Given the description of an element on the screen output the (x, y) to click on. 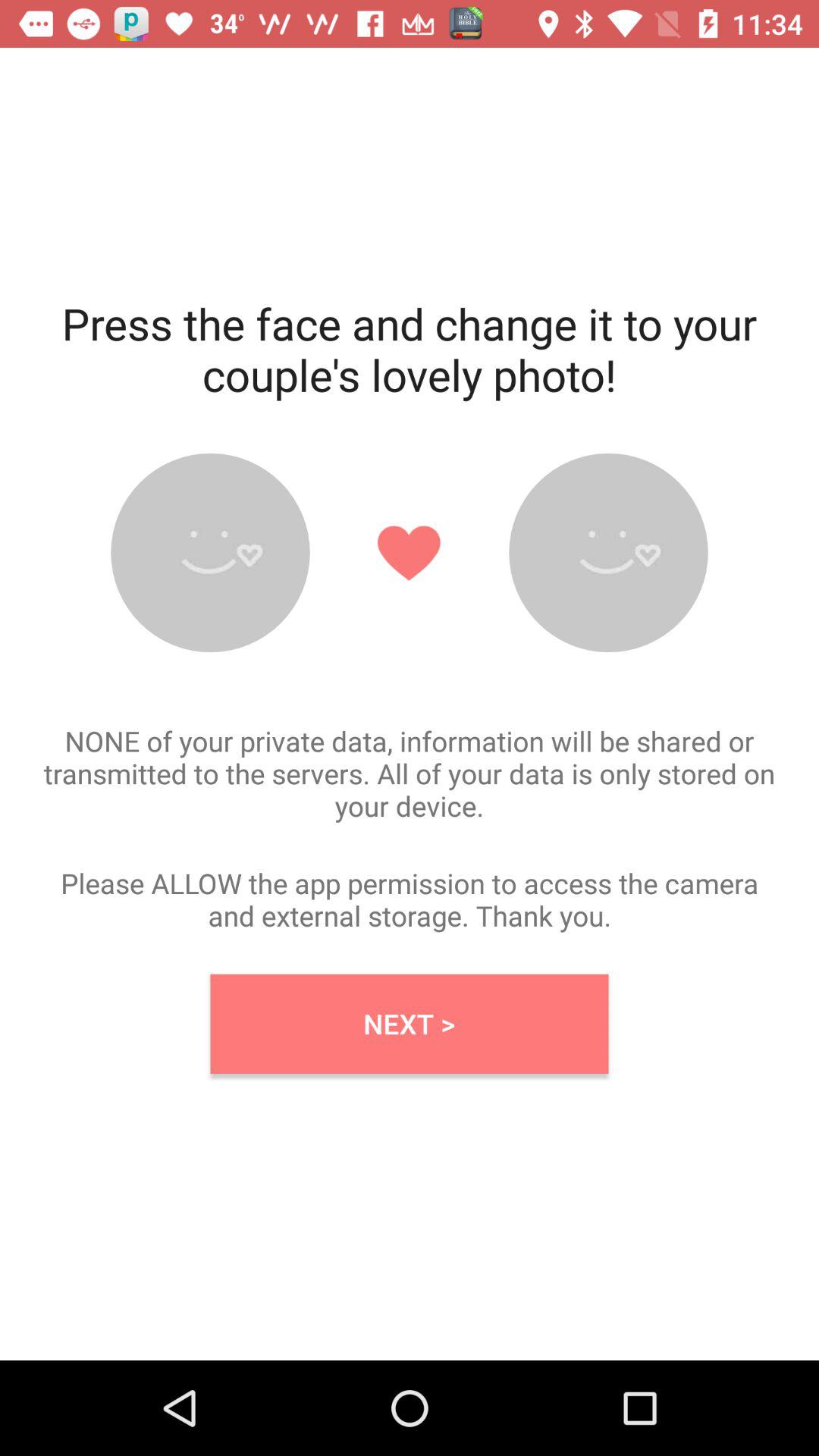
scroll until the next > (409, 1023)
